Given the description of an element on the screen output the (x, y) to click on. 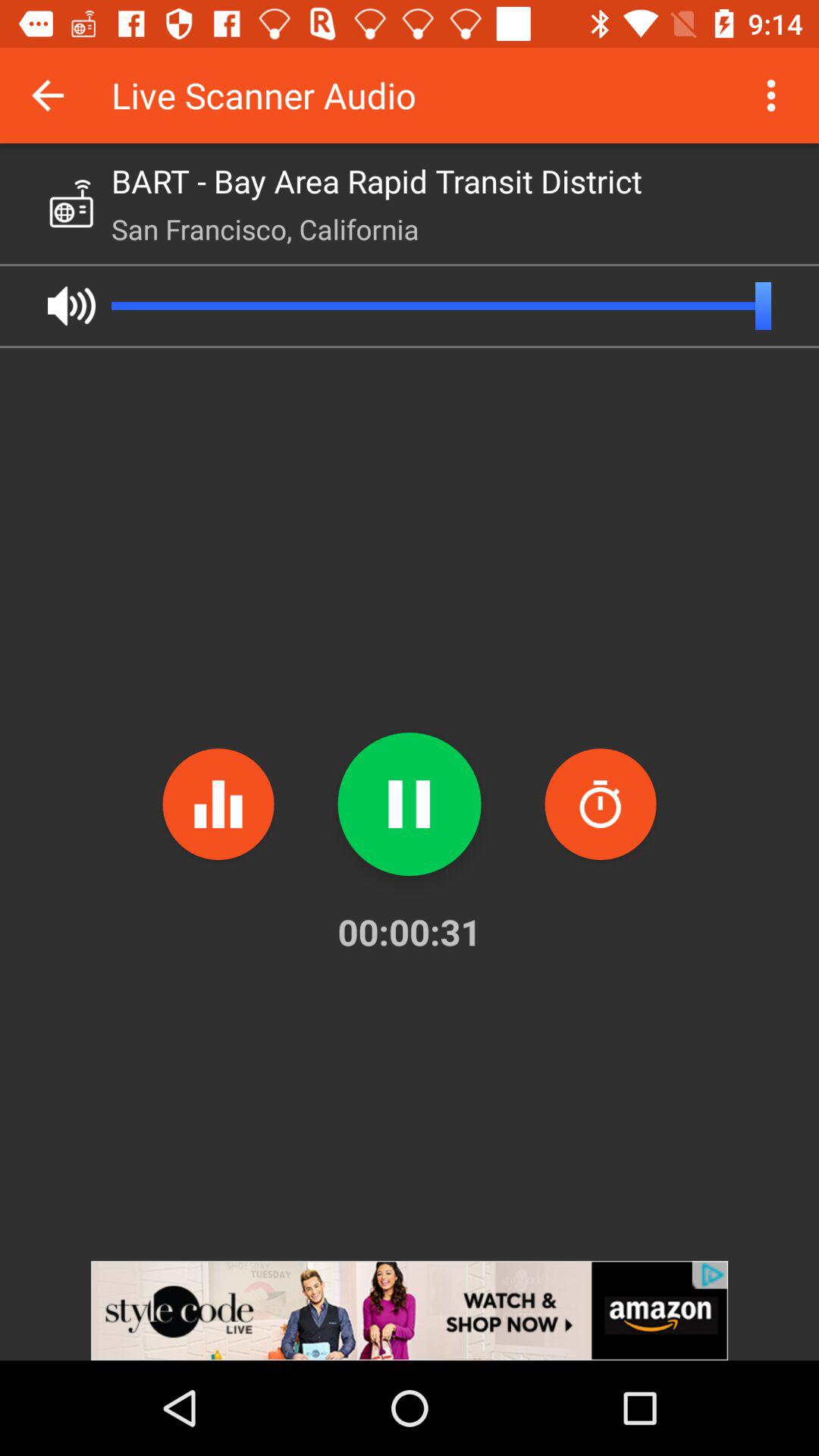
auto play (71, 305)
